Given the description of an element on the screen output the (x, y) to click on. 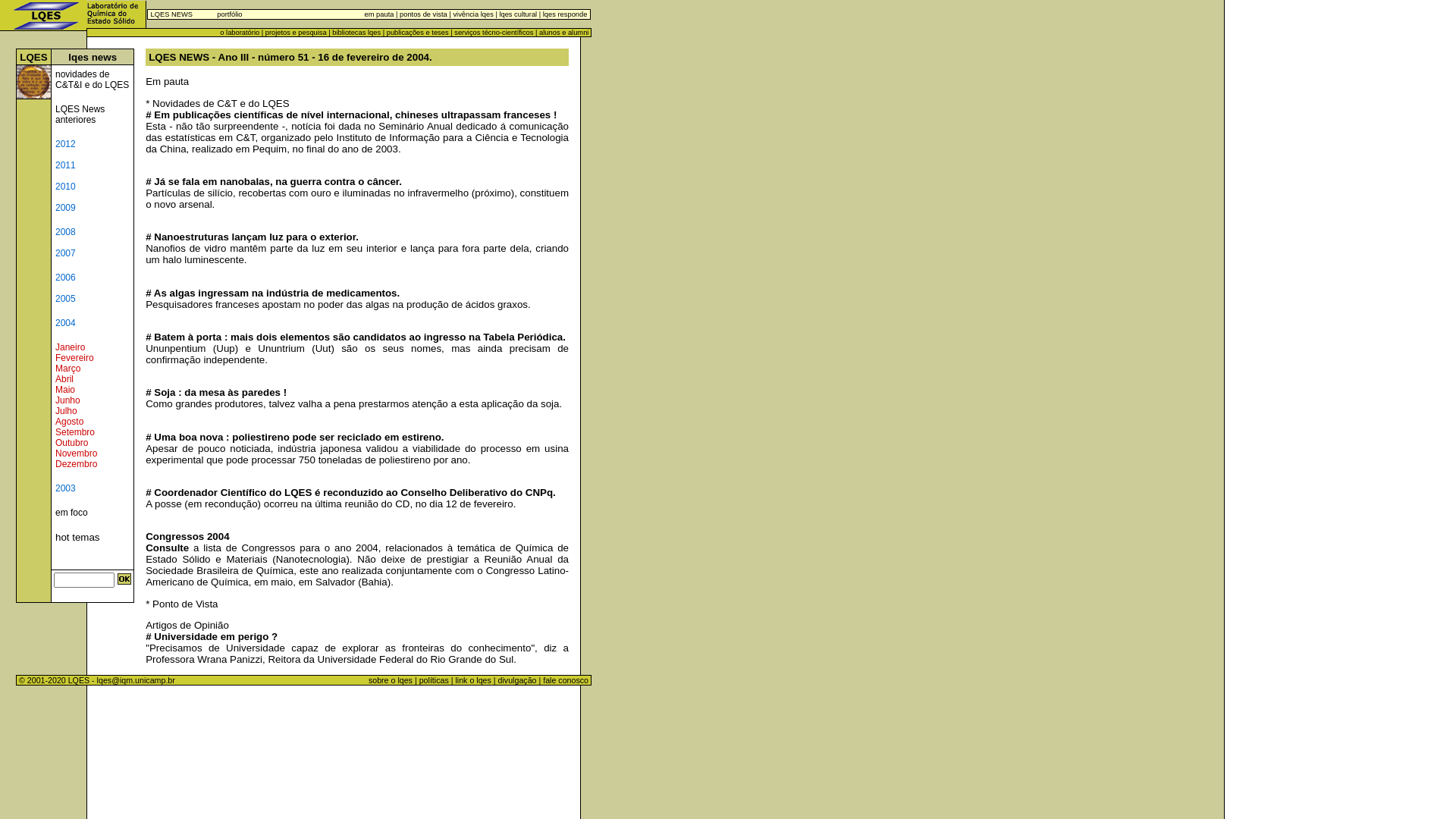
bibliotecas lqes Element type: text (356, 32)
lqes news Element type: text (92, 56)
Julho Element type: text (66, 410)
# Universidade em perigo ? Element type: text (211, 636)
fale conosco  Element type: text (566, 679)
2010 Element type: text (65, 191)
2011 Element type: text (65, 170)
Novembro Element type: text (76, 453)
Junho Element type: text (67, 400)
2008 Element type: text (65, 231)
lqes@iqm.unicamp.br Element type: text (136, 679)
LQES News anteriores Element type: text (79, 114)
projetos e pesquisa Element type: text (295, 32)
lqes cultural Element type: text (516, 14)
Setembro Element type: text (74, 431)
Dezembro Element type: text (76, 463)
2009 Element type: text (65, 207)
2003 Element type: text (65, 488)
2004 Element type: text (65, 322)
link o lqes Element type: text (472, 679)
2006 Element type: text (65, 277)
Consulte Element type: text (166, 547)
lqes responde Element type: text (563, 14)
novidades de C&T&I e do LQES Element type: text (91, 79)
Maio Element type: text (65, 389)
em pauta Element type: text (379, 14)
Janeiro Element type: text (69, 347)
Fevereiro Element type: text (74, 357)
Outubro Element type: text (71, 442)
LQES Element type: text (33, 56)
2007 Element type: text (65, 252)
Agosto Element type: text (69, 421)
em foco Element type: text (71, 512)
pontos de vista Element type: text (423, 14)
2005 Element type: text (65, 298)
2012 Element type: text (65, 149)
Abril Element type: text (64, 378)
sobre o lqes Element type: text (390, 679)
alunos e alumni Element type: text (563, 32)
LQES NEWS Element type: text (171, 14)
hot temas Element type: text (77, 548)
